Given the description of an element on the screen output the (x, y) to click on. 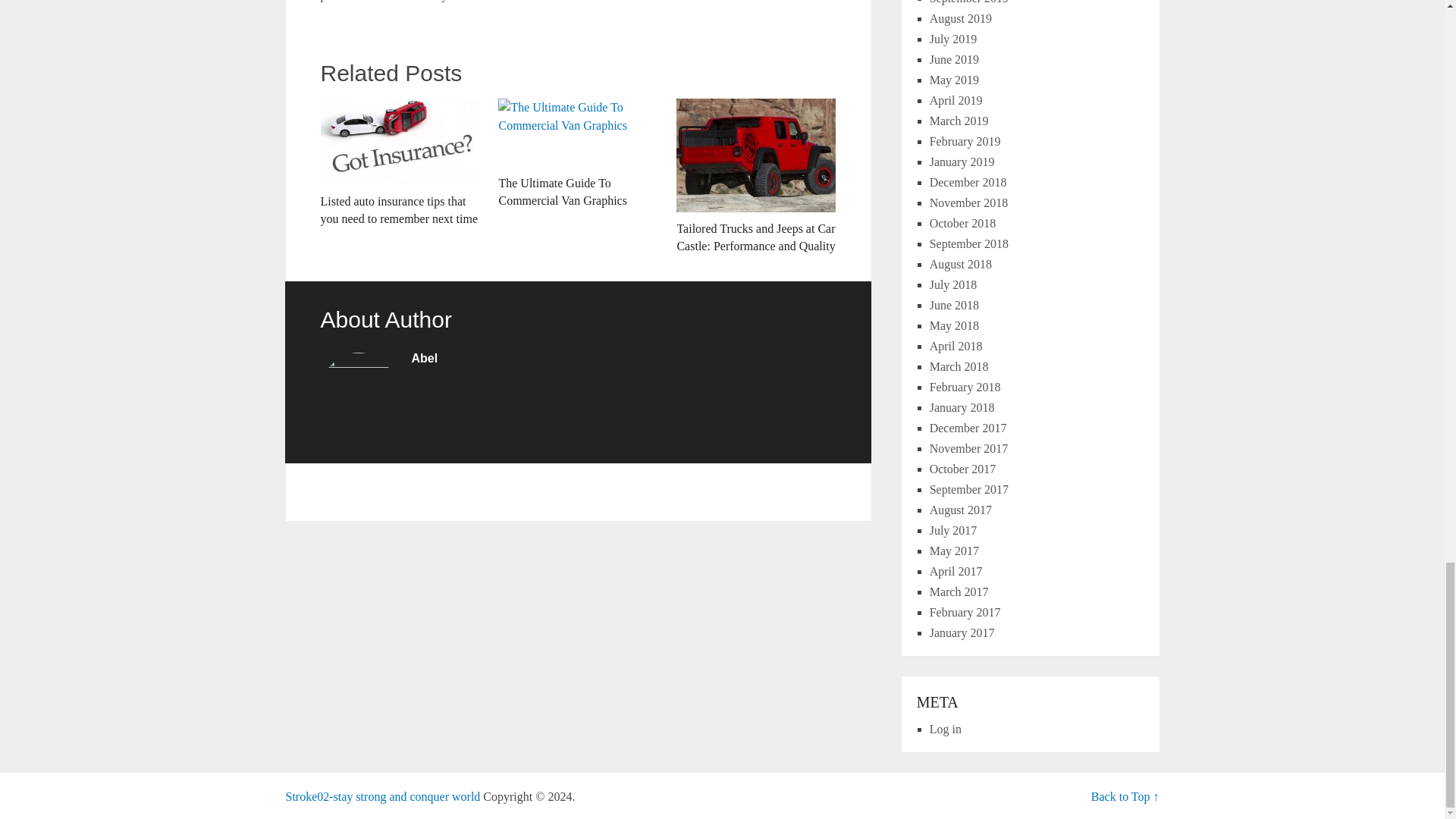
The Ultimate Guide To Commercial Van Graphics (577, 153)
